Given the description of an element on the screen output the (x, y) to click on. 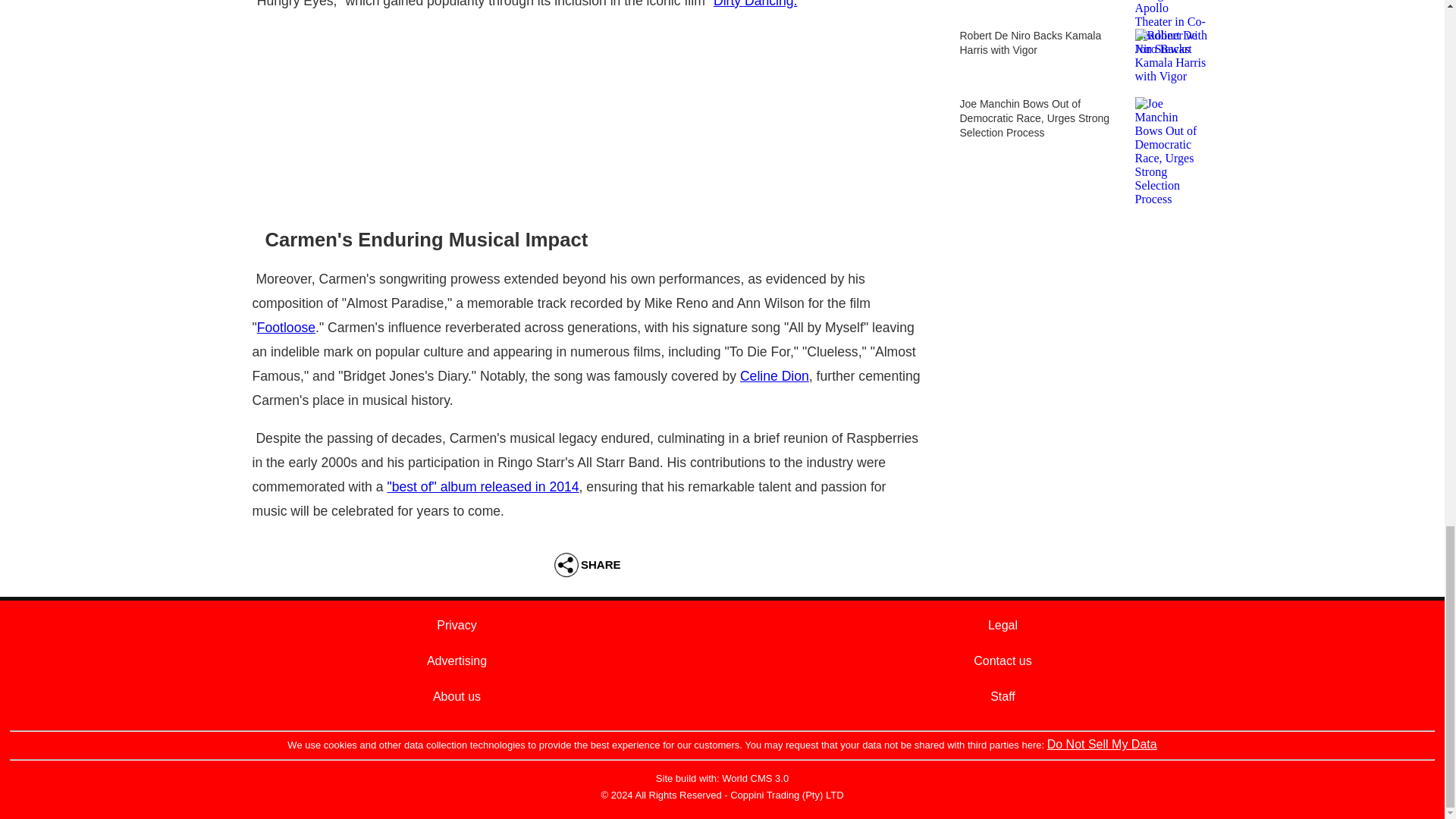
Footloose (286, 327)
Dirty Dancing. (755, 4)
